Given the description of an element on the screen output the (x, y) to click on. 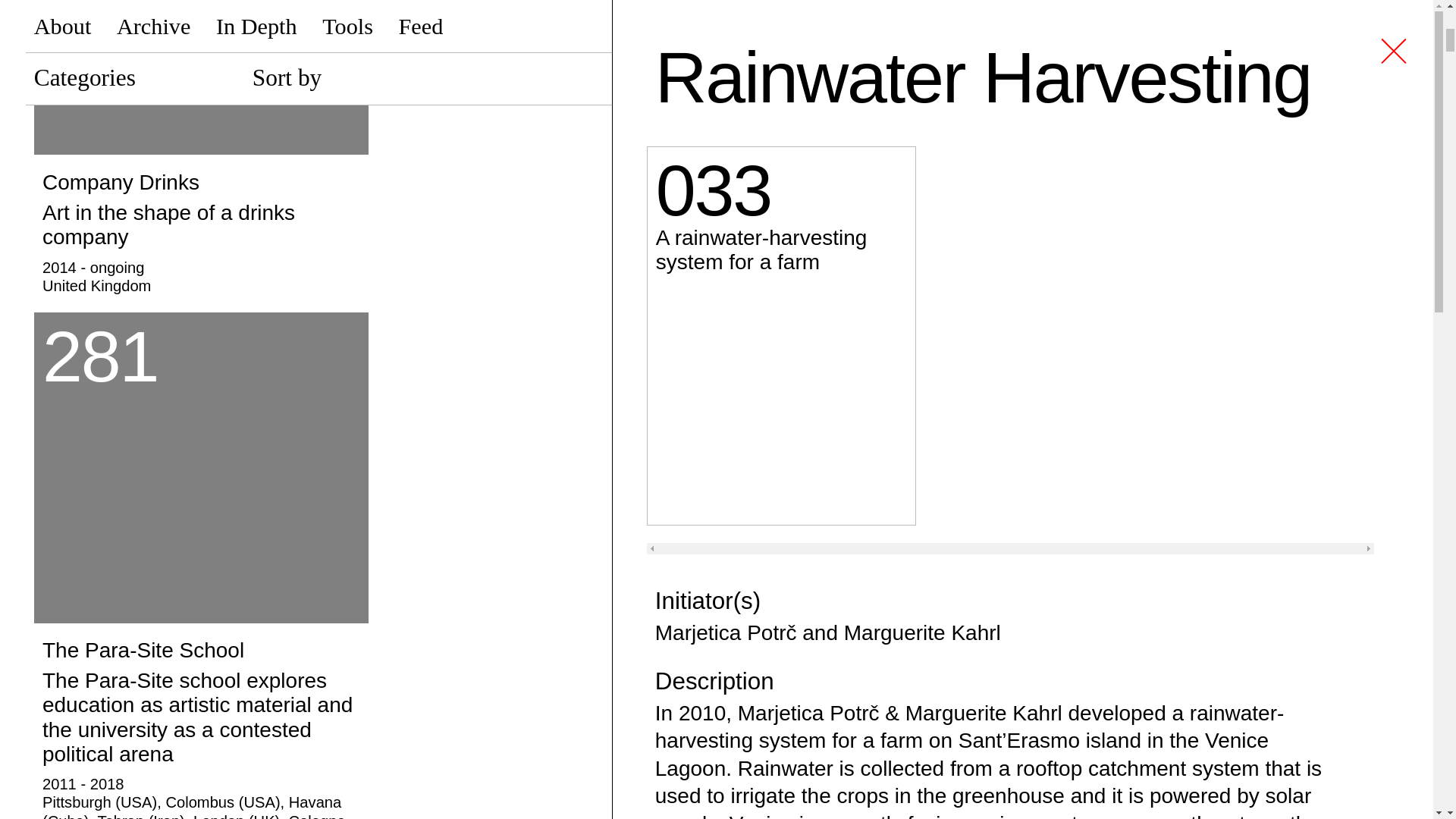
Company Drinks (200, 228)
The Para-Site School (200, 467)
Company Drinks (200, 77)
The Para-Site School (200, 725)
